Given the description of an element on the screen output the (x, y) to click on. 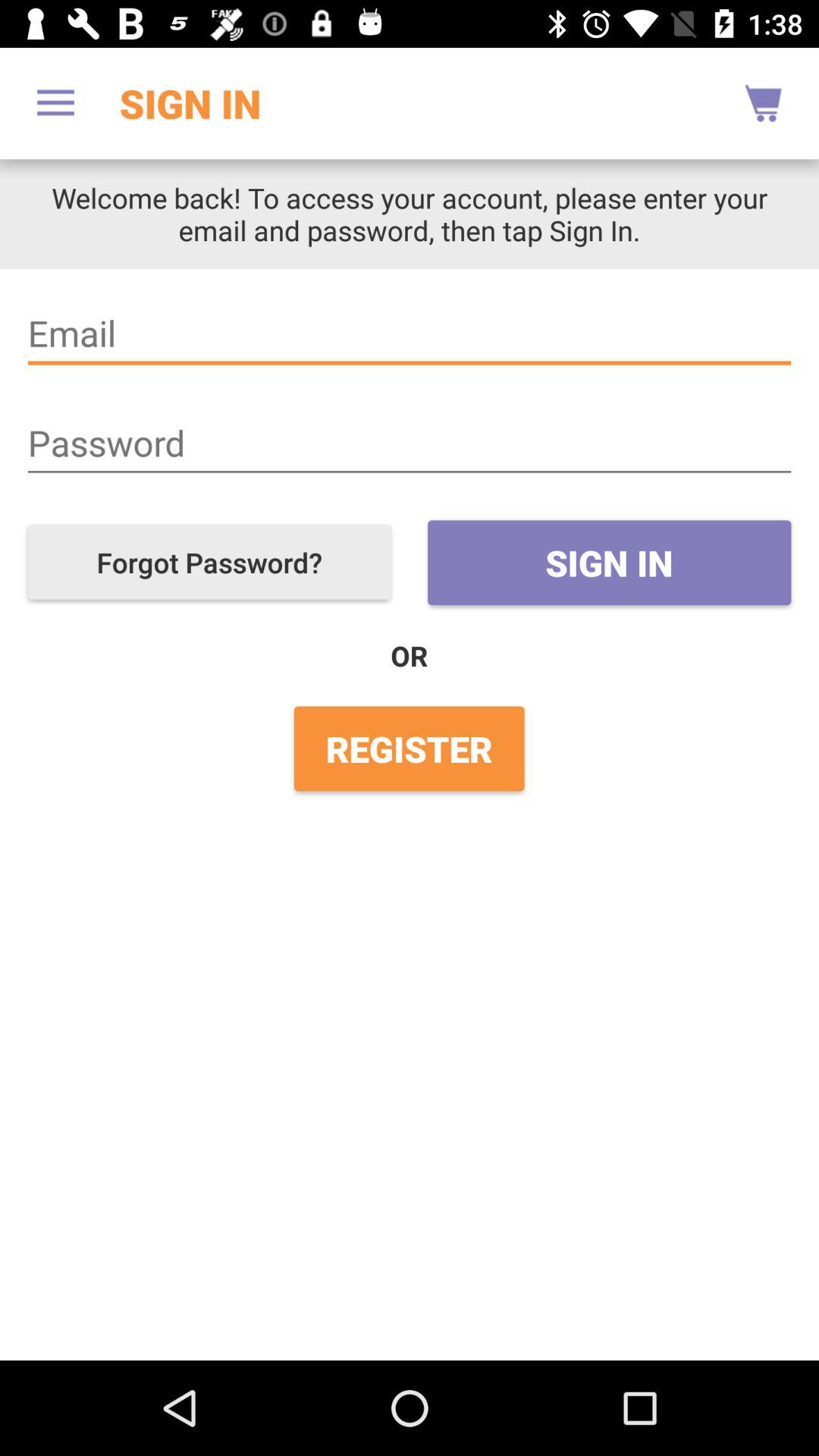
open the icon next to the sign in (209, 562)
